Given the description of an element on the screen output the (x, y) to click on. 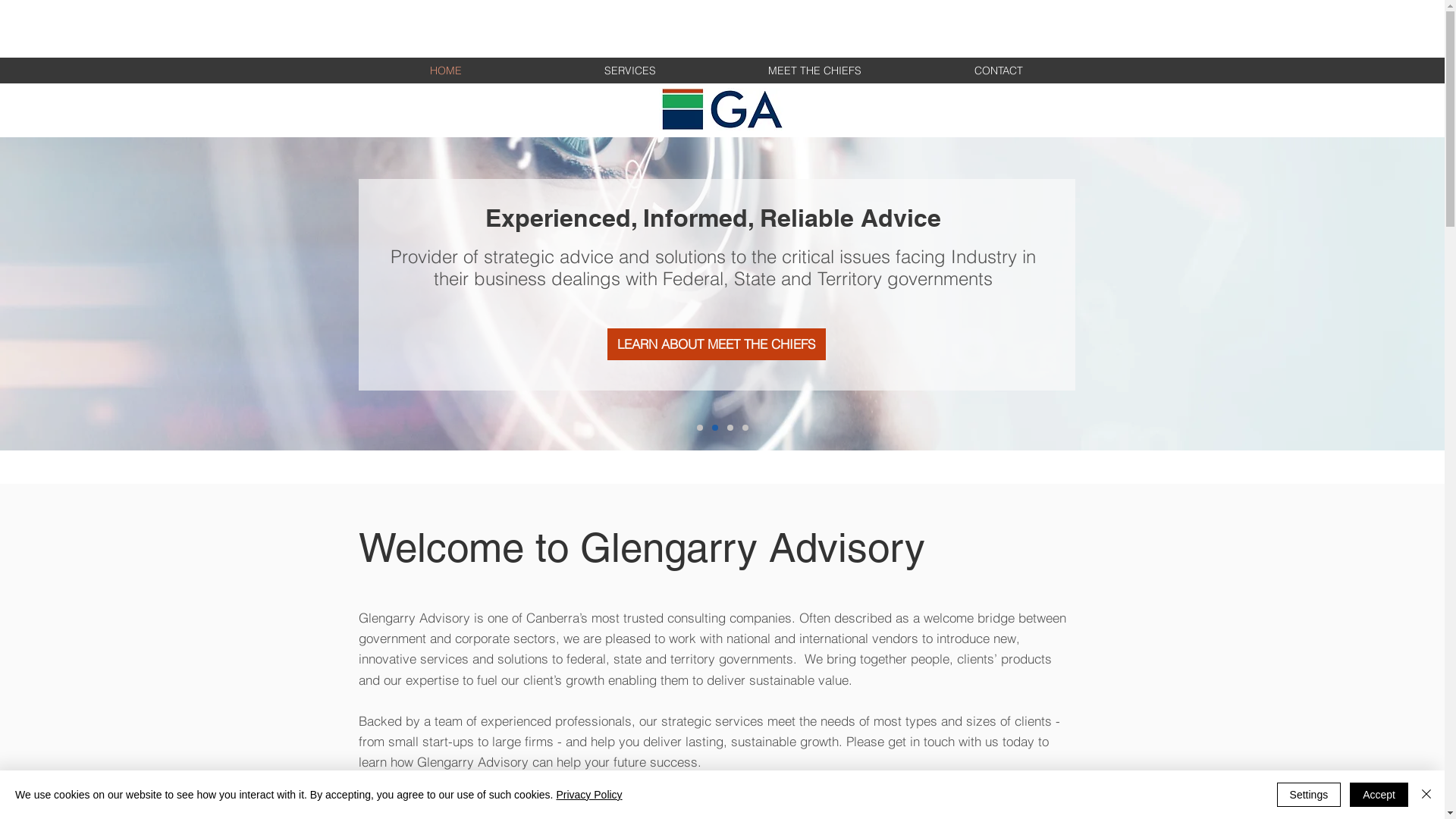
LEARN ABOUT MEET THE CHIEFS Element type: text (715, 344)
Accept Element type: text (1378, 794)
CONTACT US Element type: text (1034, 798)
SERVICES Element type: text (630, 70)
Settings Element type: text (1309, 794)
Privacy Policy Element type: text (588, 794)
CONTACT Element type: text (998, 70)
MEET THE CHIEFS Element type: text (813, 70)
HOME Element type: text (445, 70)
